Given the description of an element on the screen output the (x, y) to click on. 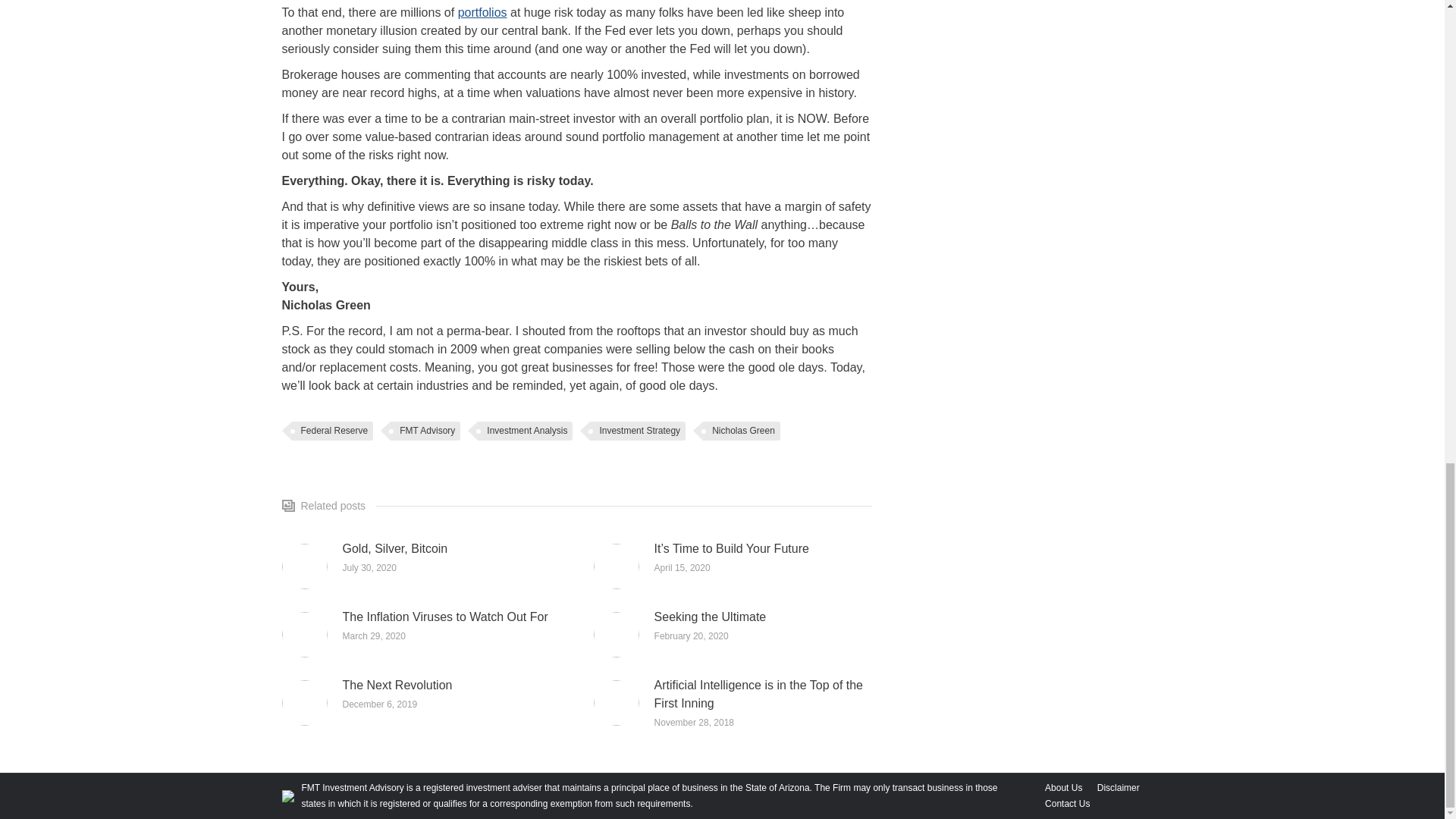
Investment Strategy (637, 430)
Federal Reserve (331, 430)
Nicholas Green (741, 430)
Investment Analysis (524, 430)
Gold, Silver, Bitcoin (395, 548)
About Us (1063, 787)
Disclaimer (1118, 787)
Seeking the Ultimate (710, 617)
FMT Advisory (425, 430)
portfolios (482, 11)
The Inflation Viruses to Watch Out For (445, 617)
Artificial Intelligence is in the Top of the First Inning (762, 694)
Contact Us (1067, 803)
See what our model portfolios look like (482, 11)
The Next Revolution (397, 685)
